Given the description of an element on the screen output the (x, y) to click on. 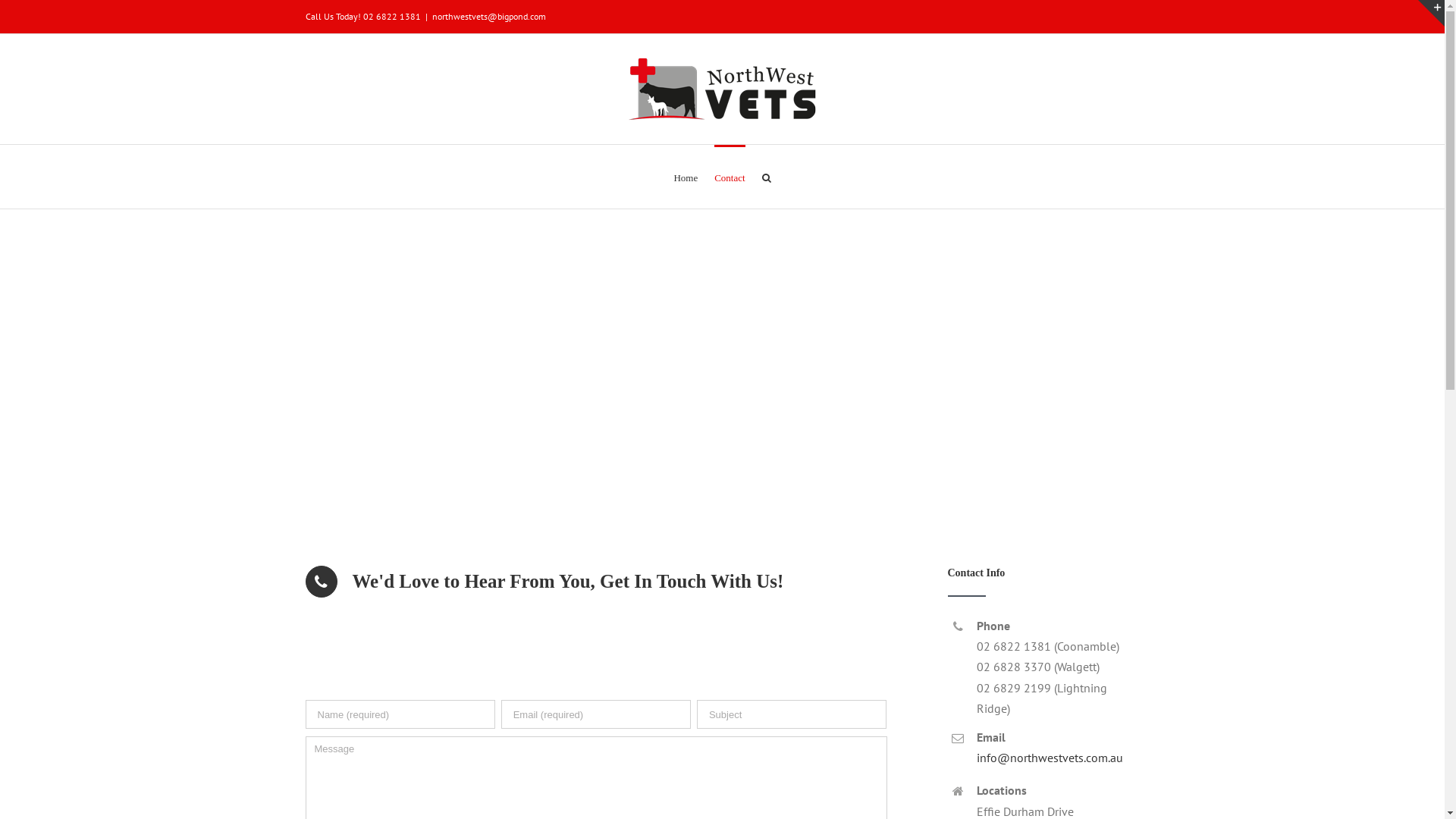
northwestvets@bigpond.com Element type: text (489, 15)
info@northwestvets.com.au Element type: text (1049, 757)
Contact Element type: text (729, 176)
Home Element type: text (685, 176)
